Given the description of an element on the screen output the (x, y) to click on. 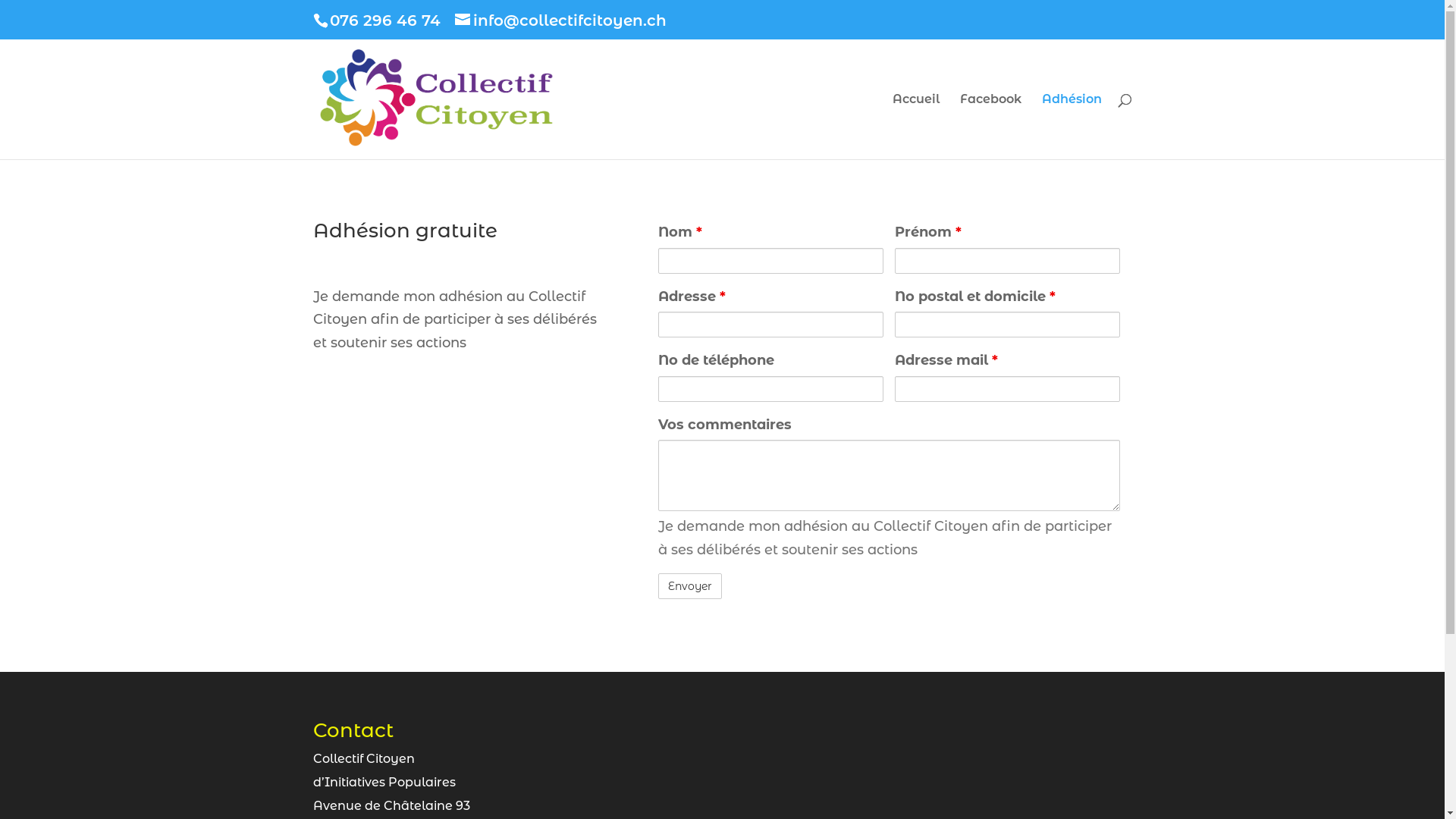
info@collectifcitoyen.ch Element type: text (560, 20)
Facebook Element type: text (990, 126)
Envoyer Element type: text (689, 586)
Accueil Element type: text (914, 126)
